Given the description of an element on the screen output the (x, y) to click on. 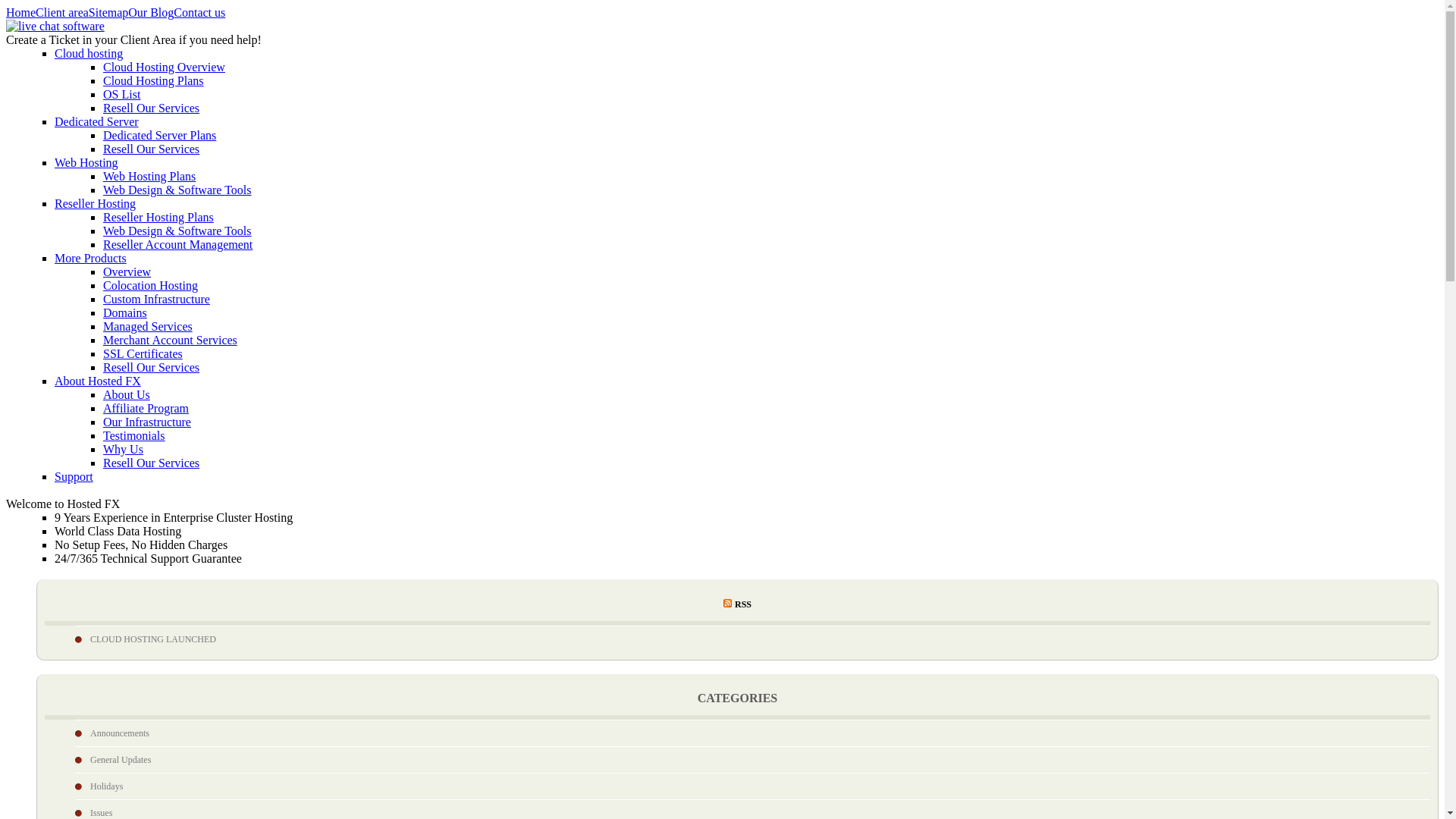
Cloud Hosting Plans (153, 80)
Cloud Hosting Overview (164, 66)
OS List (121, 93)
More Products (90, 257)
Reseller Account Management (177, 244)
Our Blog (150, 11)
Sitemap (108, 11)
Our Infrastructure (146, 421)
About Hosted FX (98, 380)
Cloud hosting (88, 52)
